Given the description of an element on the screen output the (x, y) to click on. 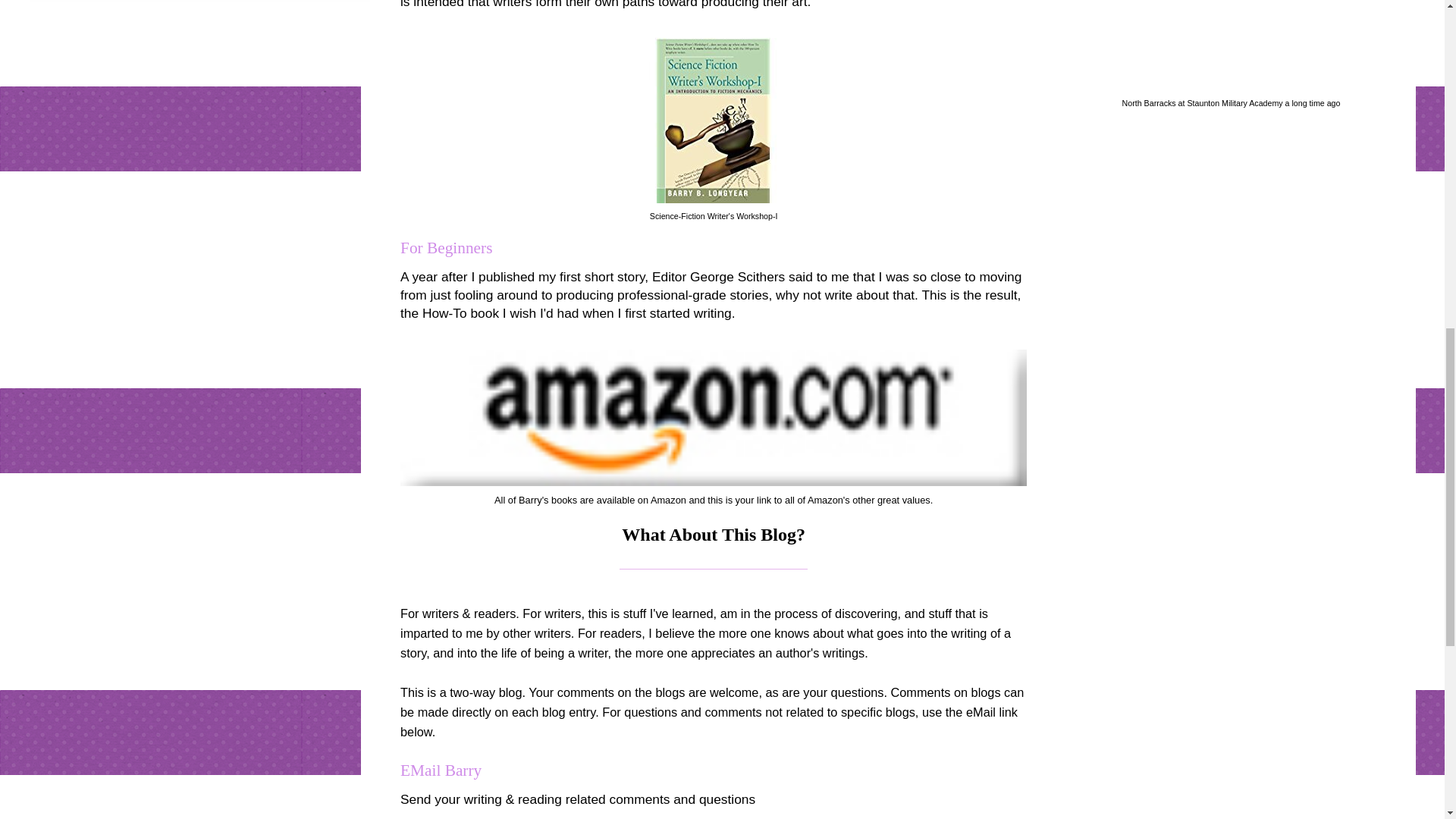
EMail Barry (440, 770)
For Beginners (446, 248)
Science-Fiction Writer's Workshop-I (713, 215)
